Given the description of an element on the screen output the (x, y) to click on. 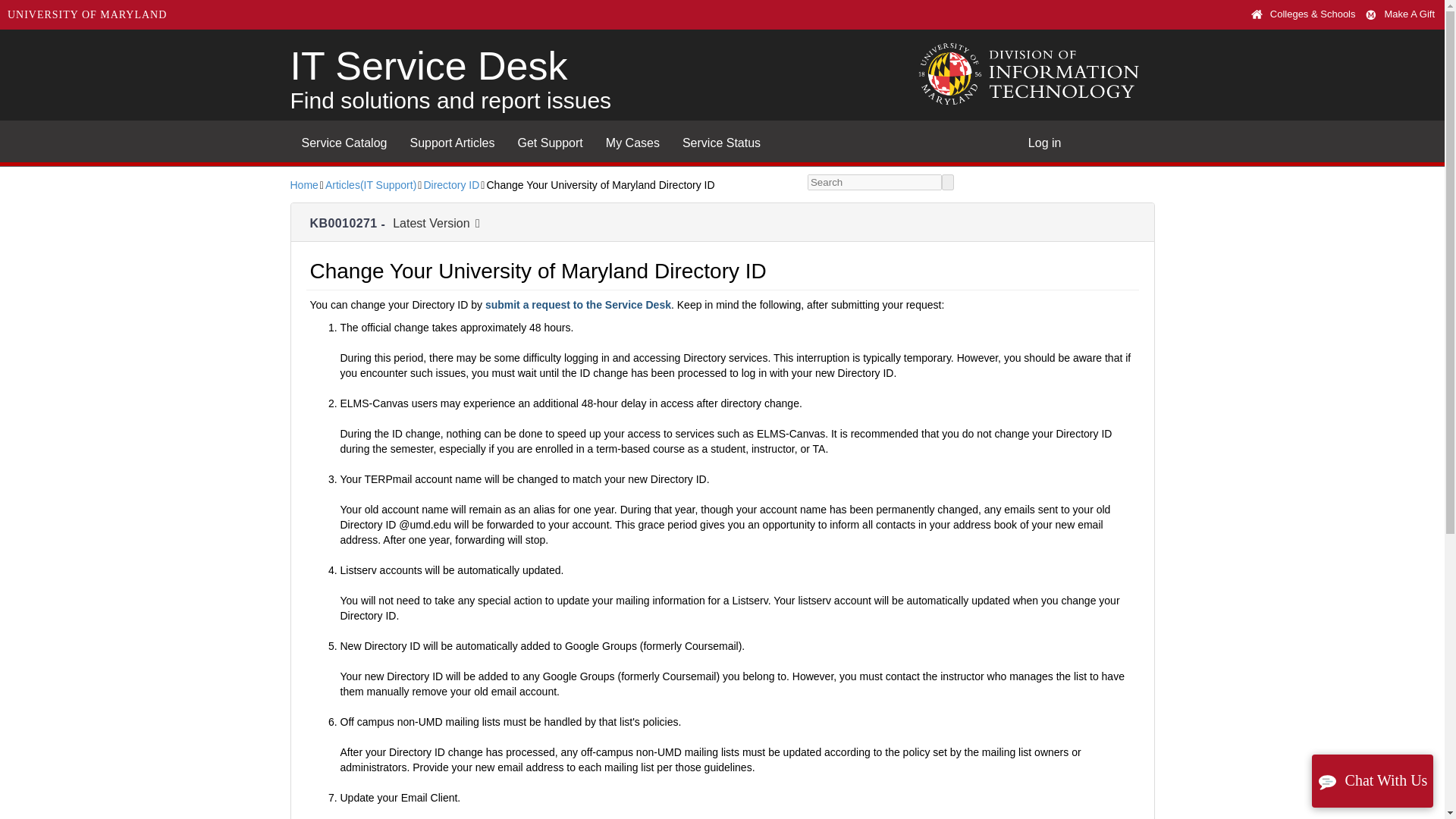
DIT Home (1034, 74)
Log in (1044, 139)
UNIVERSITY OF MARYLAND (87, 14)
Service Status (721, 139)
Latest Version (436, 223)
Return Home (450, 74)
Login To ITSupport (1044, 139)
Directory ID (451, 185)
My Requests (632, 139)
submit a request to the Service Desk (577, 304)
Service Catalog (450, 74)
Get Support (343, 139)
Gift (550, 139)
Support Articles (1374, 14)
